Given the description of an element on the screen output the (x, y) to click on. 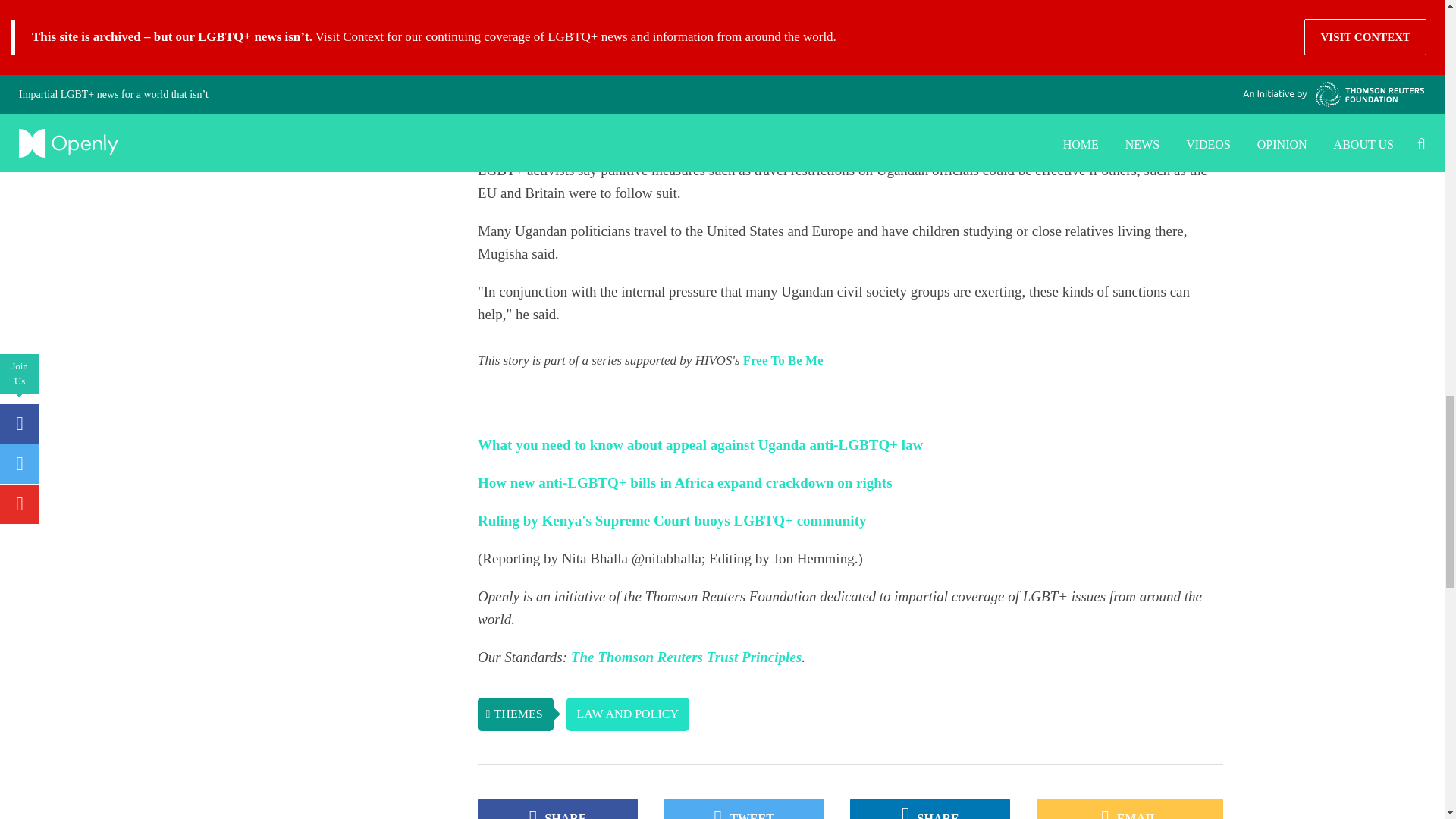
EMAIL (1129, 808)
LAW AND POLICY (627, 713)
SHARE (557, 808)
SHARE (930, 808)
Free To Be Me (783, 359)
The Thomson Reuters Trust Principles (686, 657)
TWEET (743, 808)
